Given the description of an element on the screen output the (x, y) to click on. 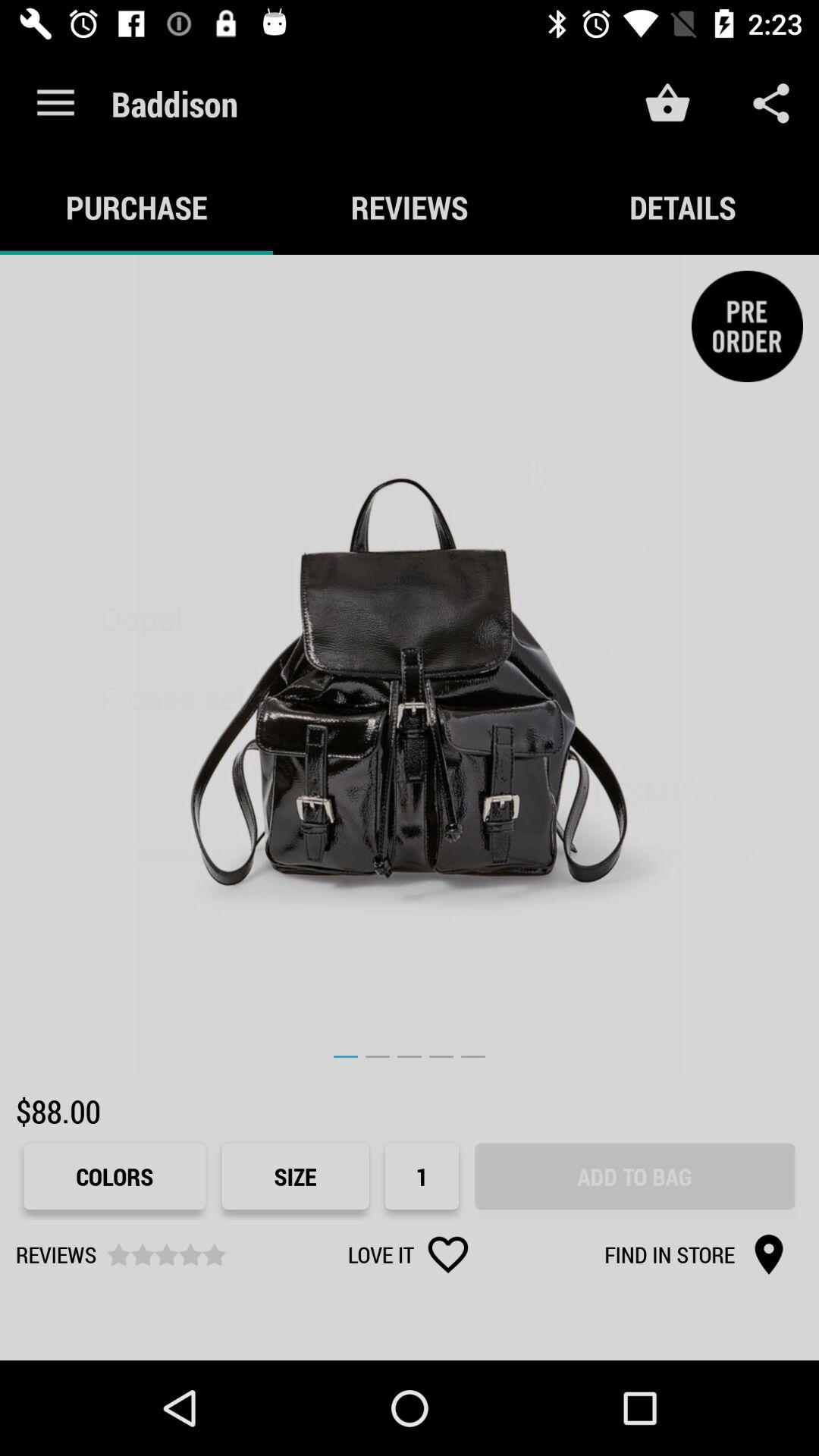
open the icon above purchase (55, 103)
